Given the description of an element on the screen output the (x, y) to click on. 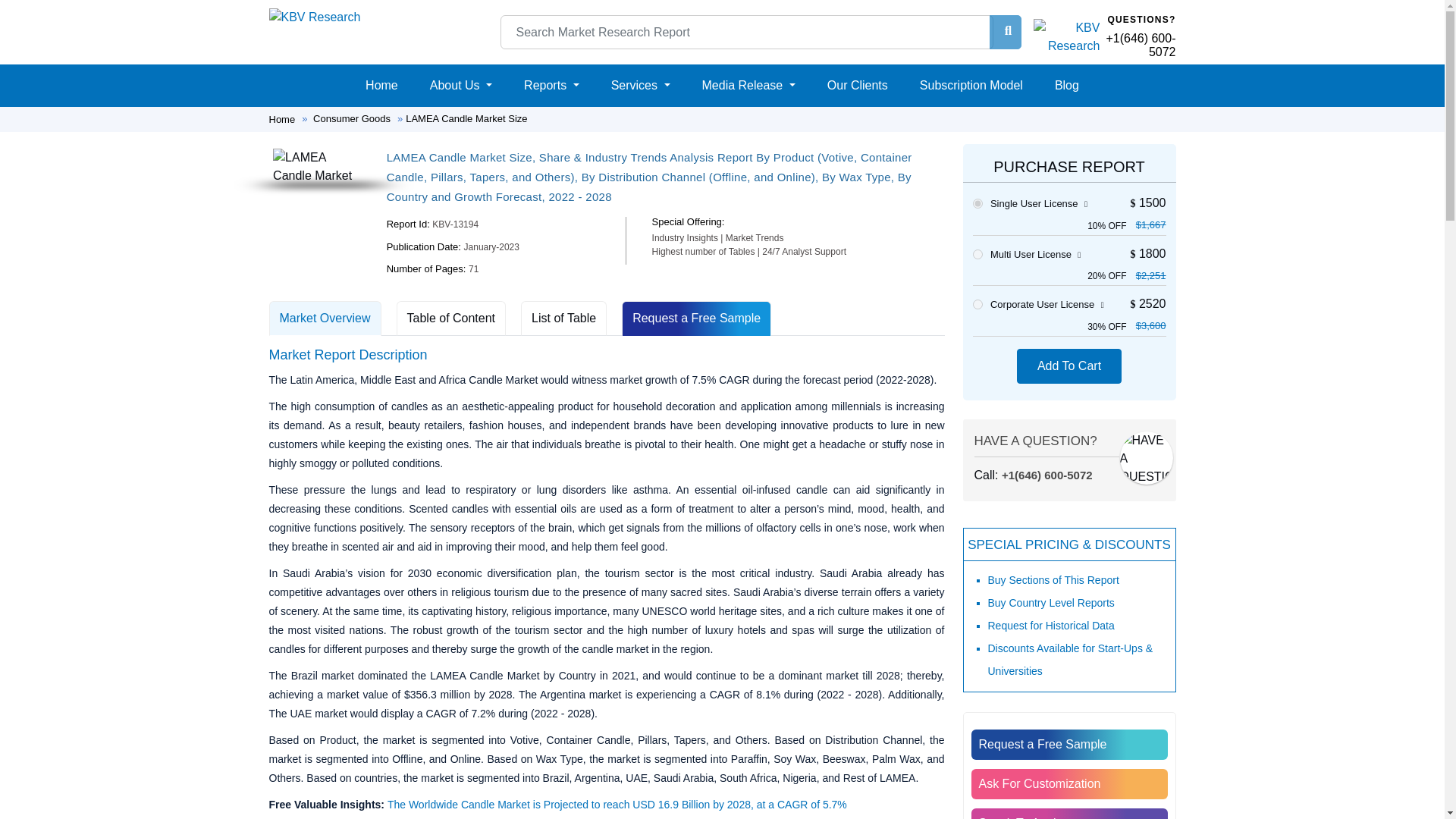
Media Release (748, 85)
Services (641, 85)
About Us (460, 85)
Home (381, 85)
Our Clients (857, 85)
Blog (1066, 85)
1800 (976, 254)
Reports (551, 85)
LAMEA Candle Market (319, 166)
1500 (976, 203)
KBV Research (313, 17)
Subscription Model (971, 85)
2520 (976, 304)
